Given the description of an element on the screen output the (x, y) to click on. 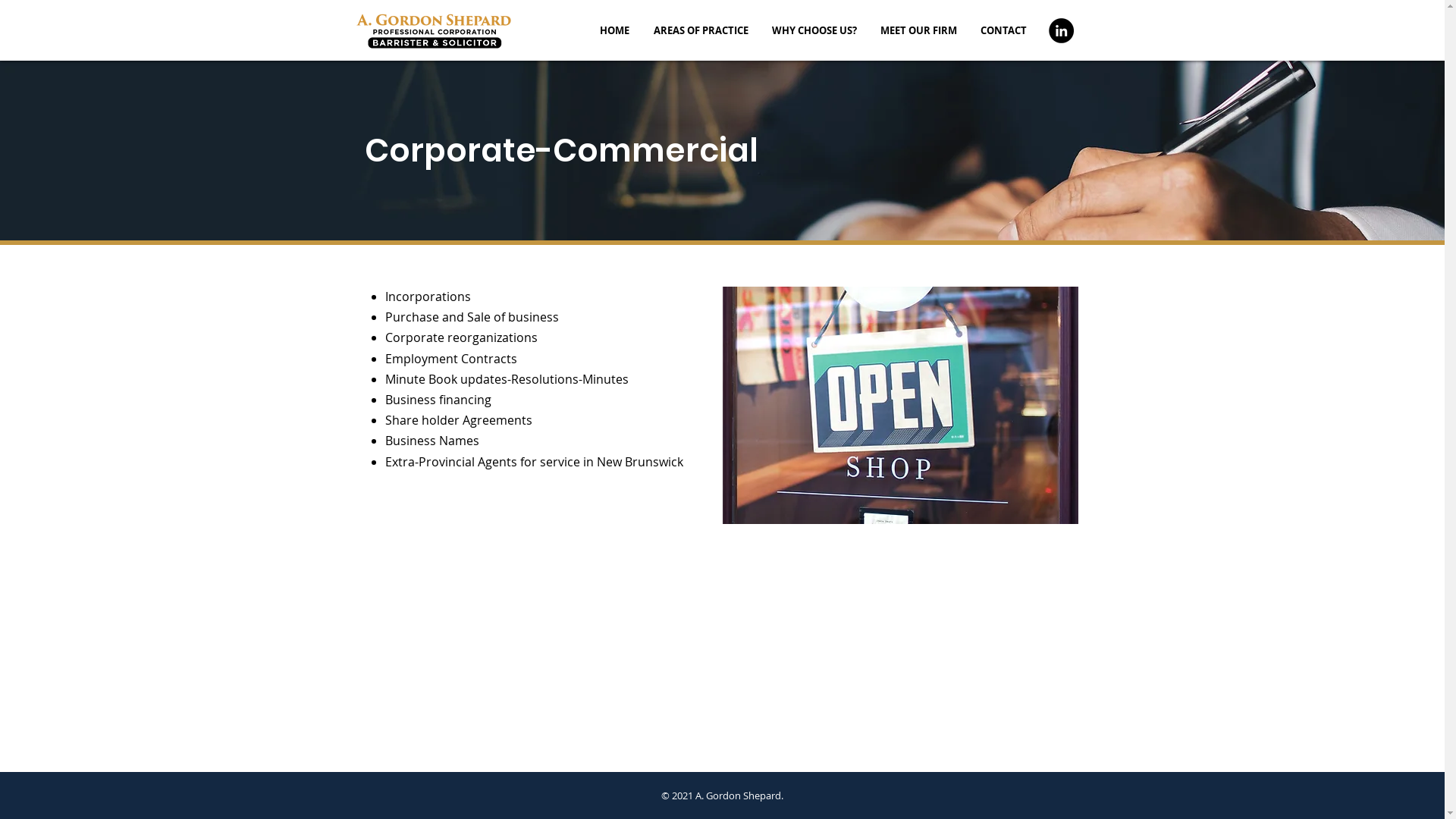
CONTACT Element type: text (1003, 29)
MEET OUR FIRM Element type: text (919, 29)
HOME Element type: text (613, 29)
WHY CHOOSE US? Element type: text (813, 29)
